Given the description of an element on the screen output the (x, y) to click on. 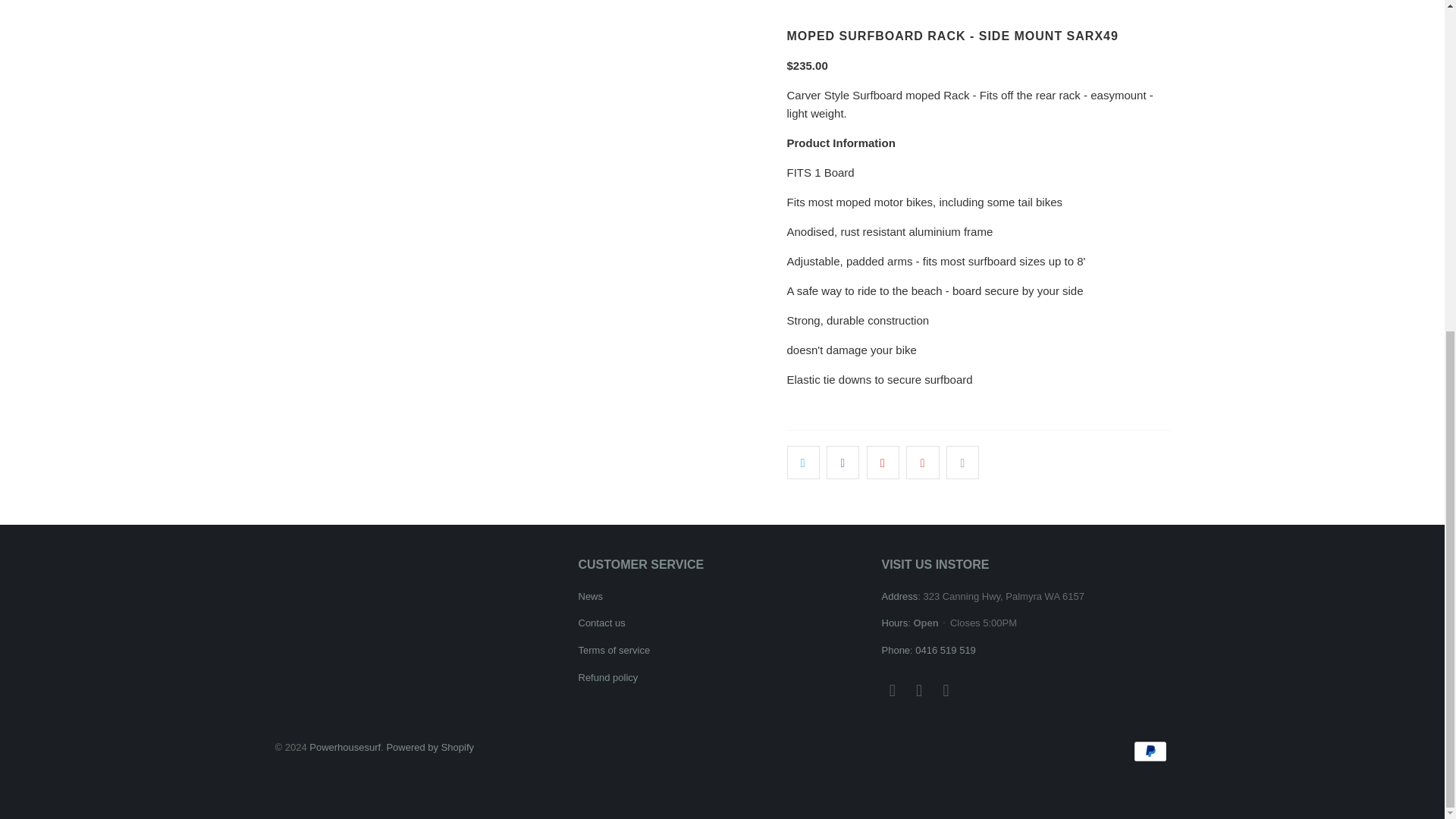
Email this to a friend (962, 462)
Powerhousesurf on Facebook (892, 690)
Share this on Facebook (843, 462)
Share this on Twitter (803, 462)
PayPal (1150, 751)
Call via Hangouts (945, 650)
Powerhousesurf on Instagram (919, 690)
Share this on Pinterest (882, 462)
